Given the description of an element on the screen output the (x, y) to click on. 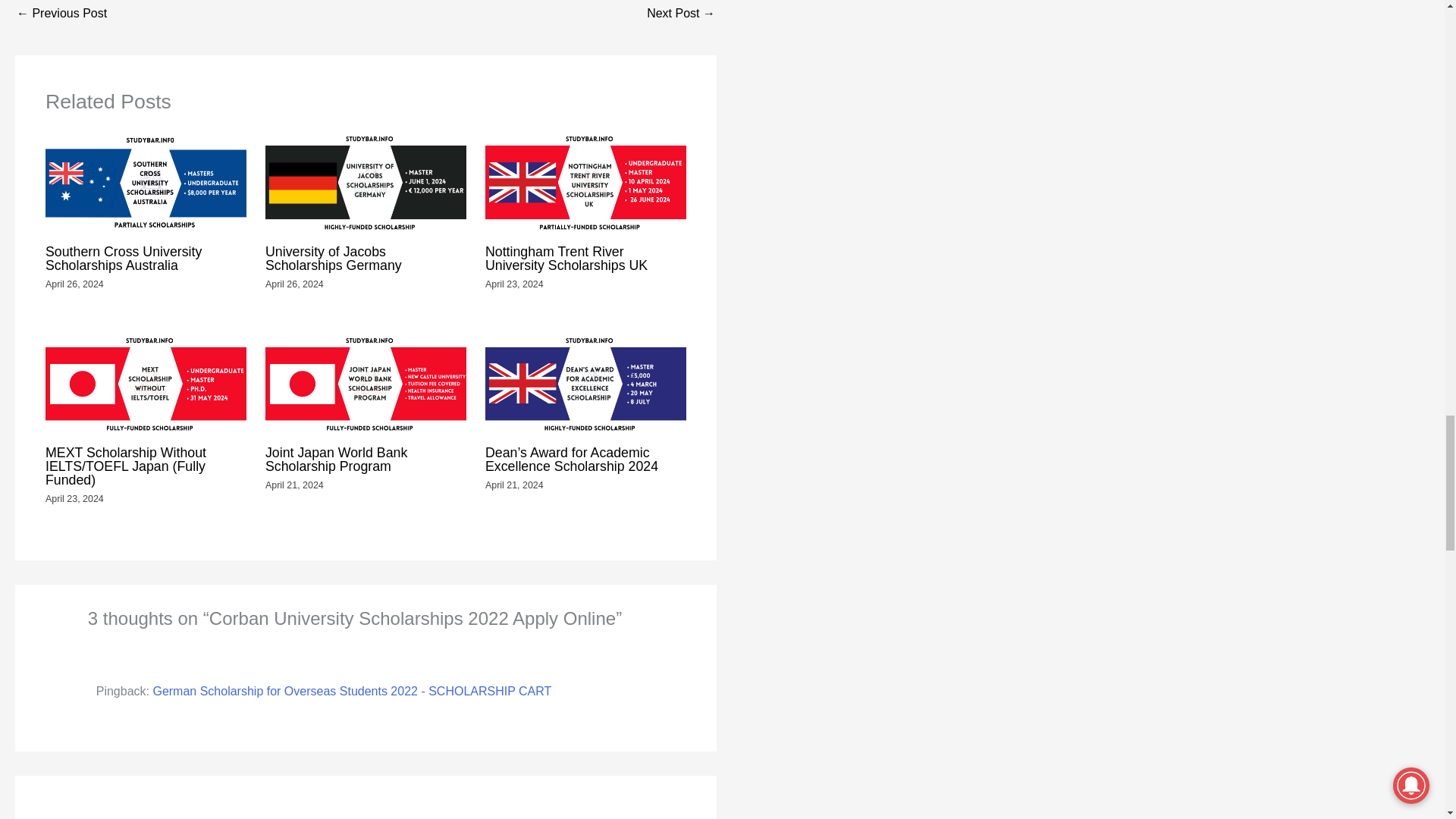
University Of Michigan Scholarship Dearborn USA (680, 14)
Fully funded scholarships Italy 2023 (61, 14)
